Given the description of an element on the screen output the (x, y) to click on. 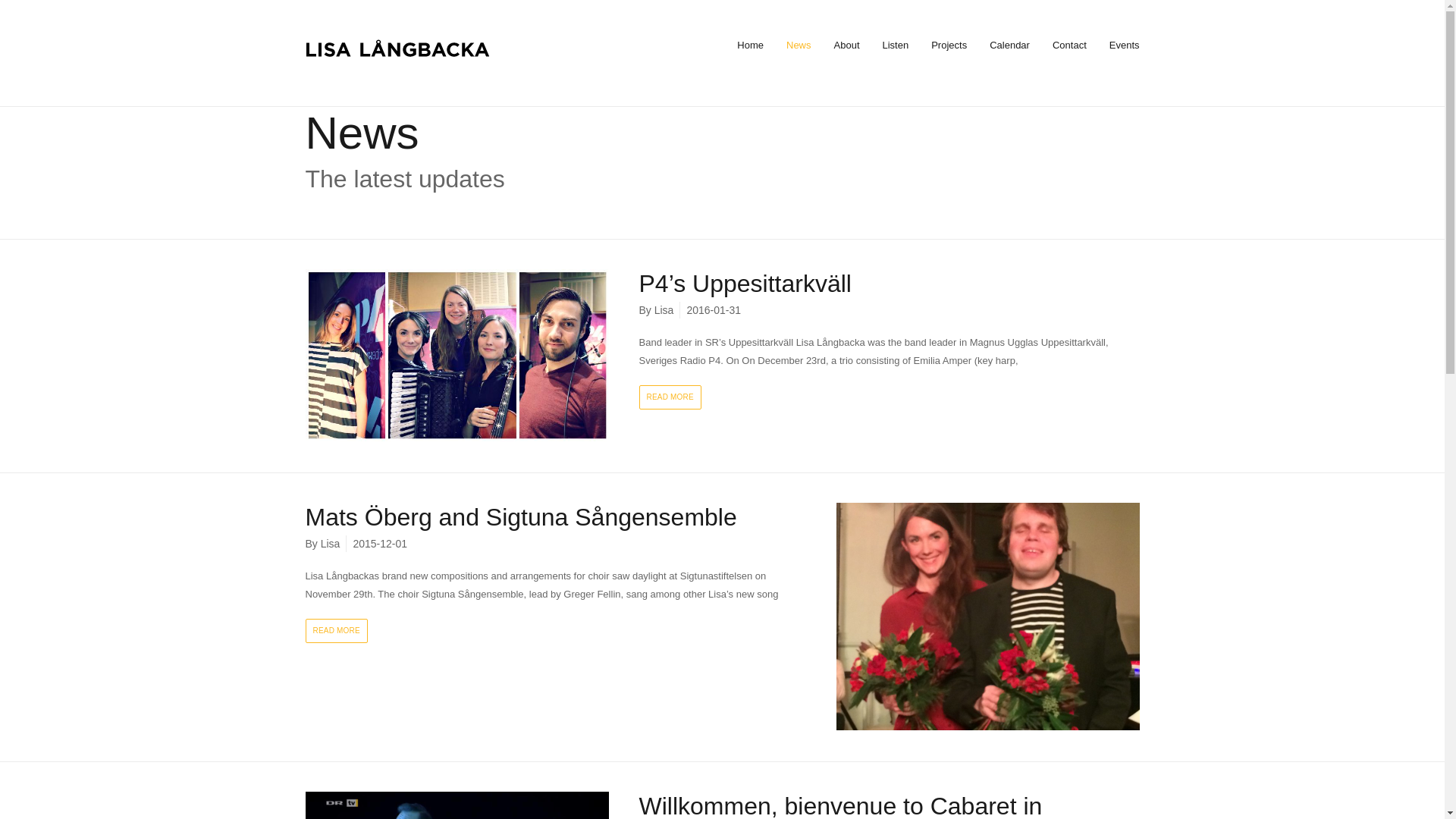
Willkommen, bienvenue to Cabaret in Copenhagen (840, 805)
READ MORE (335, 630)
READ MORE (669, 396)
